Given the description of an element on the screen output the (x, y) to click on. 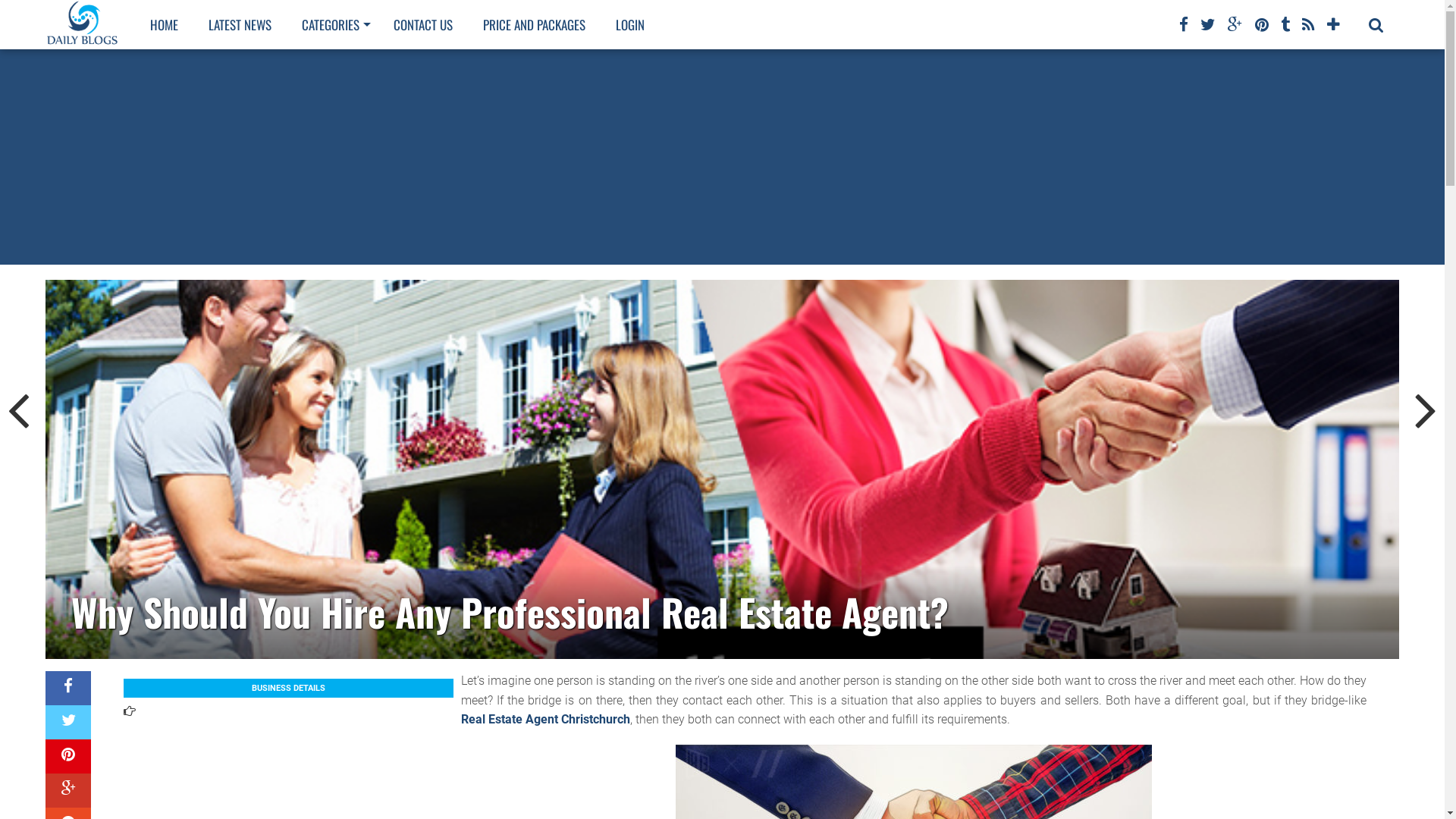
PRICE AND PACKAGES Element type: text (533, 24)
Advertisement Element type: hover (721, 156)
CATEGORIES Element type: text (332, 24)
LOGIN Element type: text (629, 24)
Pin This Post Element type: hover (68, 756)
Real Estate Agent Christchurch Element type: text (545, 719)
HOME Element type: text (163, 24)
Tweet This Post Element type: hover (68, 722)
LATEST NEWS Element type: text (239, 24)
CONTACT US Element type: text (422, 24)
Share on Google+ Element type: hover (68, 790)
Share on Facebook Element type: hover (68, 688)
